Given the description of an element on the screen output the (x, y) to click on. 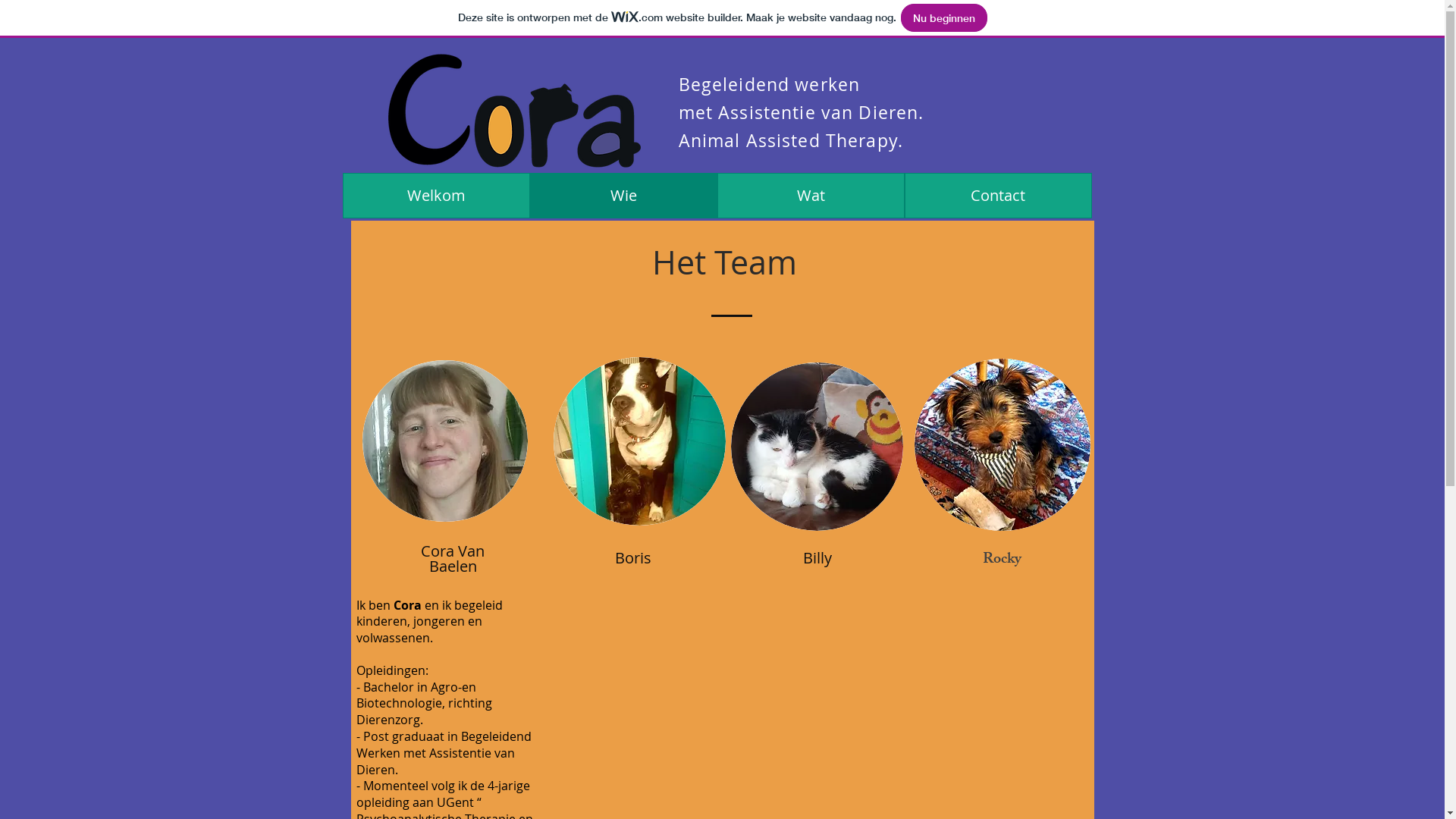
met Assistentie van Dieren. Element type: text (800, 112)
guy4.jpg Element type: hover (639, 441)
Welkom Element type: text (436, 195)
Begeleidend werken Element type: text (768, 84)
guy4.jpg Element type: hover (817, 446)
guy4.jpg Element type: hover (1002, 444)
Contact Element type: text (997, 195)
guy2.jpg Element type: hover (444, 440)
Wat Element type: text (810, 195)
Wie Element type: text (622, 195)
